Given the description of an element on the screen output the (x, y) to click on. 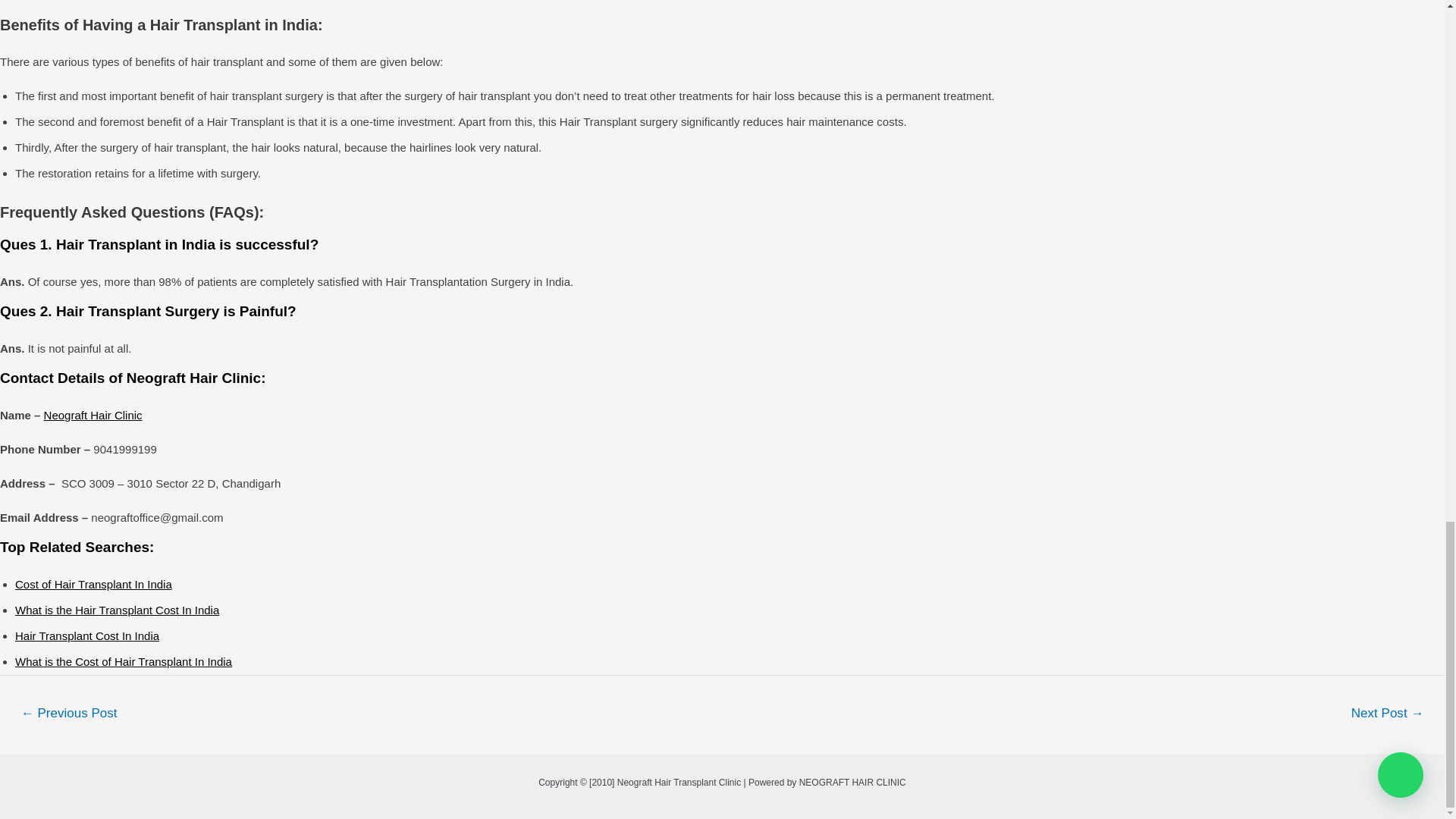
Cost of Hair Transplant In India (92, 584)
Neograft Hair Clinic (92, 414)
